Given the description of an element on the screen output the (x, y) to click on. 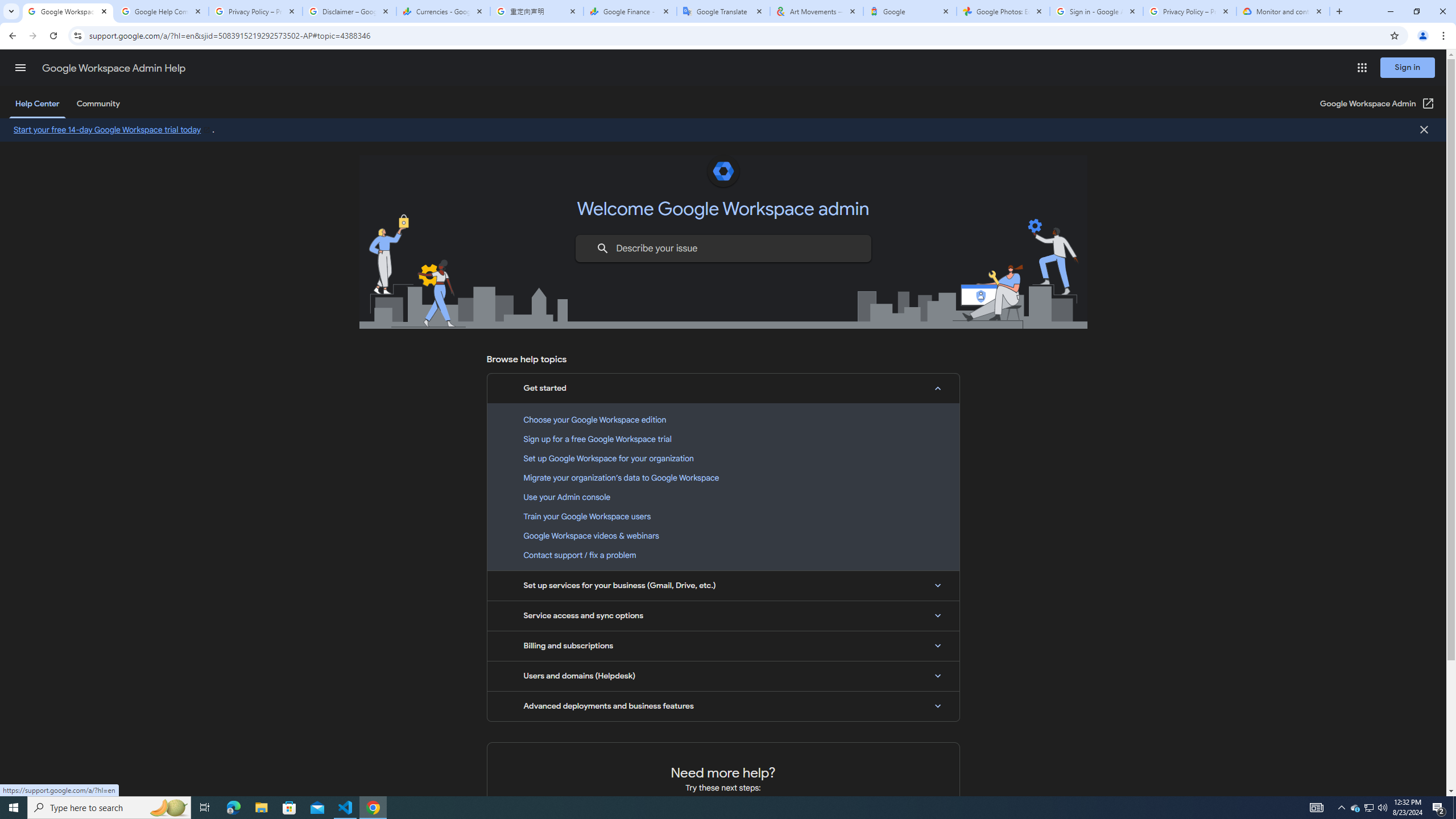
Get started, Expanded list with 8 items (722, 387)
Community (97, 103)
Set up Google Workspace for your organization (722, 458)
Users and domains (Helpdesk) (722, 676)
Billing and subscriptions (722, 645)
Choose your Google Workspace edition (722, 419)
Use your Admin console (722, 496)
Google Translate (722, 11)
